Given the description of an element on the screen output the (x, y) to click on. 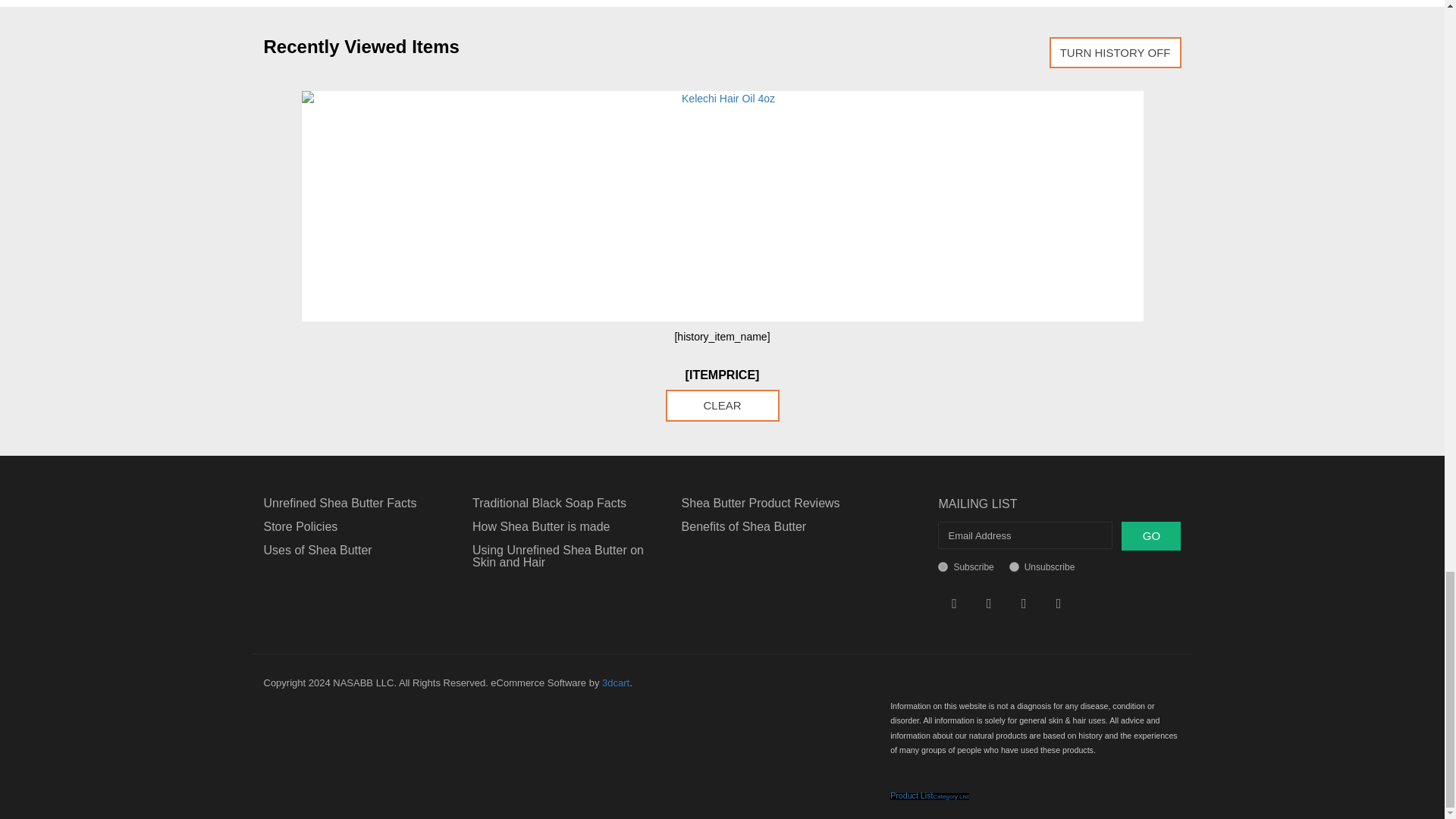
Follow Us on Instagram (1023, 603)
Like Us on Facebook (954, 603)
0 (1014, 566)
Subscribe to our Channel (988, 603)
1 (942, 566)
Subscribe to our Blog (1058, 603)
